Given the description of an element on the screen output the (x, y) to click on. 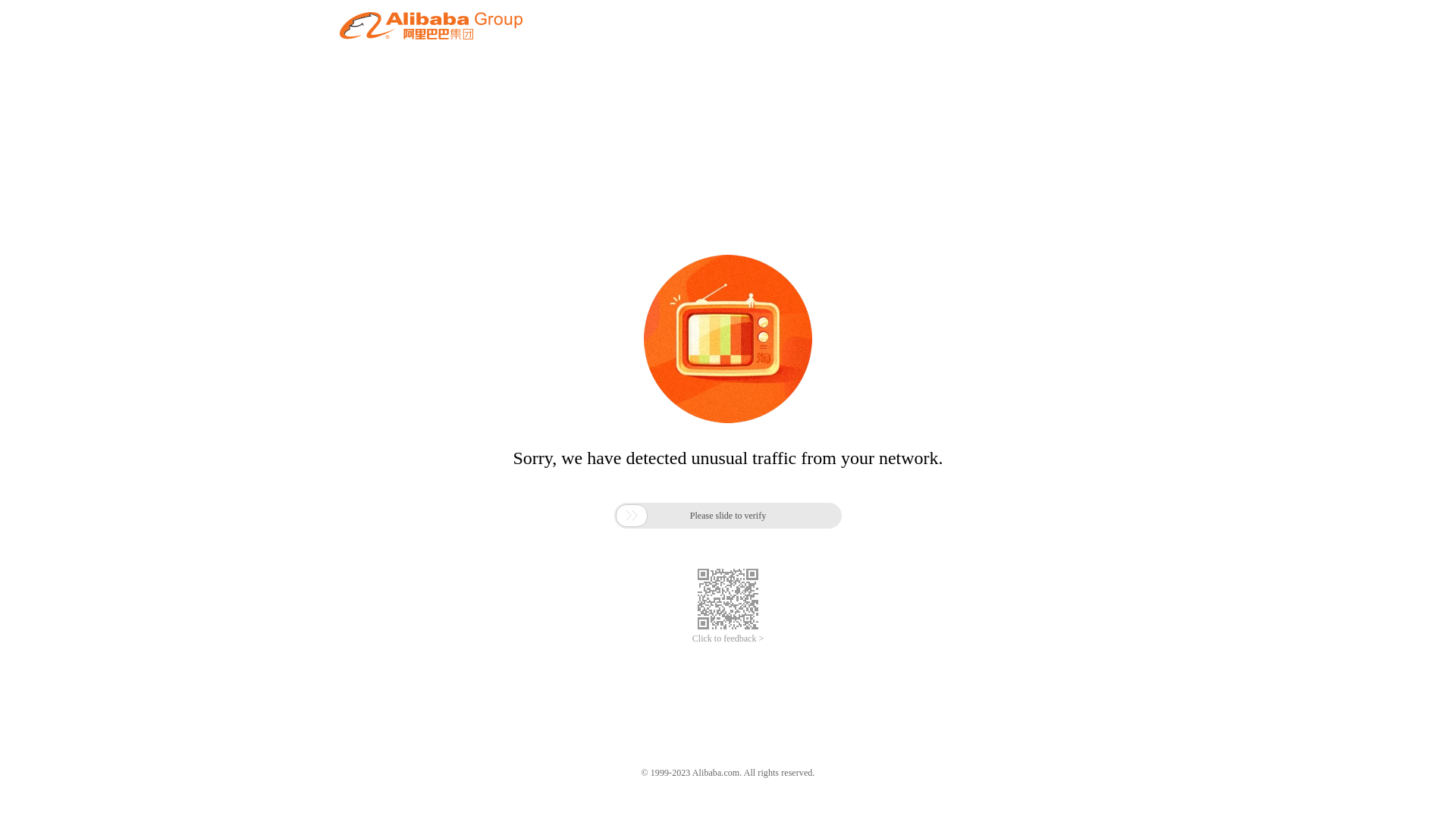
Click to feedback > Element type: text (727, 638)
